Given the description of an element on the screen output the (x, y) to click on. 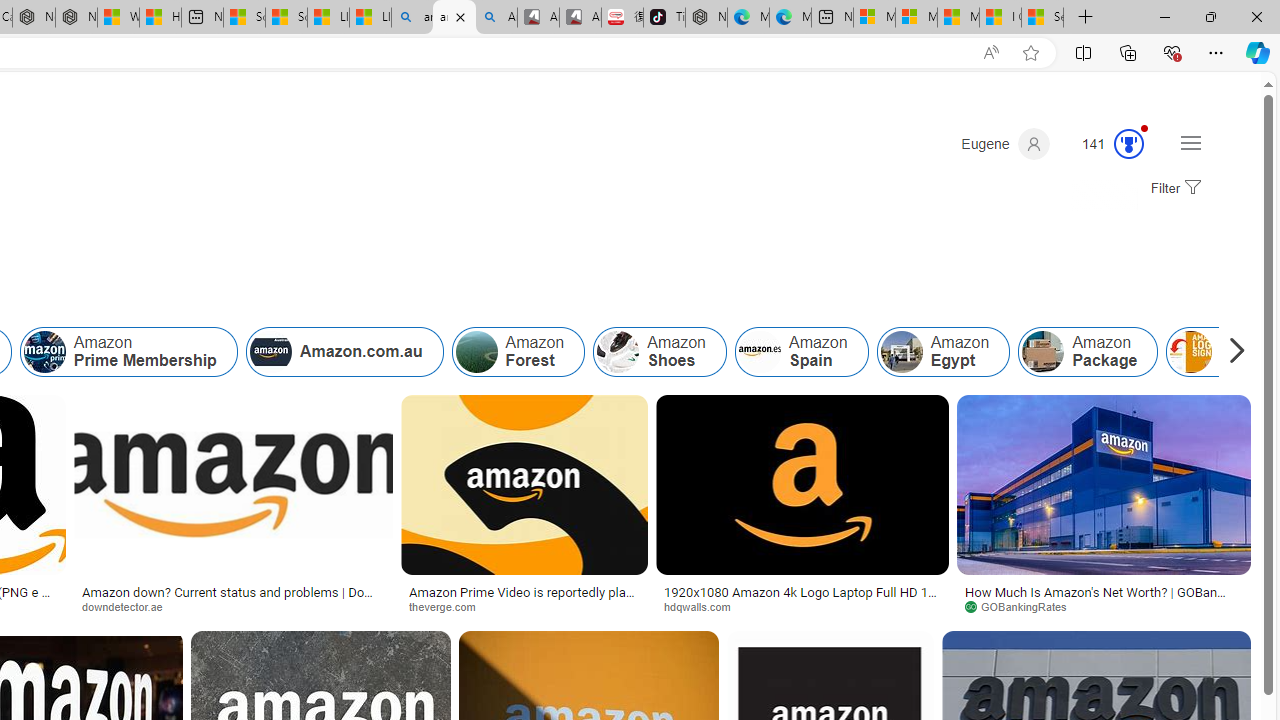
theverge.com (449, 605)
Nordace - Best Sellers (706, 17)
Amazon.com.au (343, 351)
TikTok (663, 17)
theverge.com (524, 606)
Amazon Forest (517, 351)
Amazon Forest (475, 351)
Microsoft Rewards 141 (1105, 143)
